Given the description of an element on the screen output the (x, y) to click on. 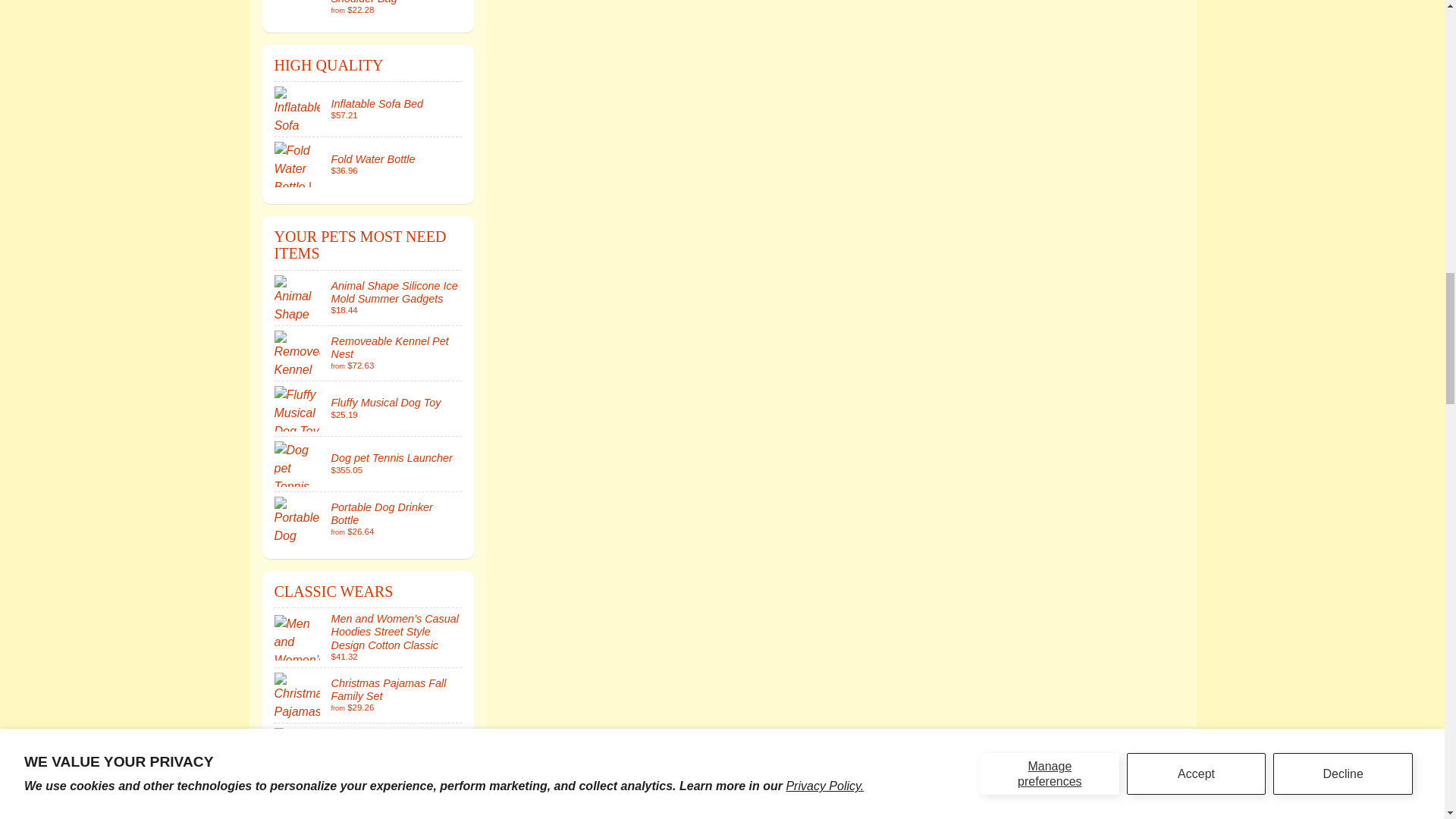
Inflatable Sofa Bed (369, 108)
Fold Water Bottle (369, 164)
